Given the description of an element on the screen output the (x, y) to click on. 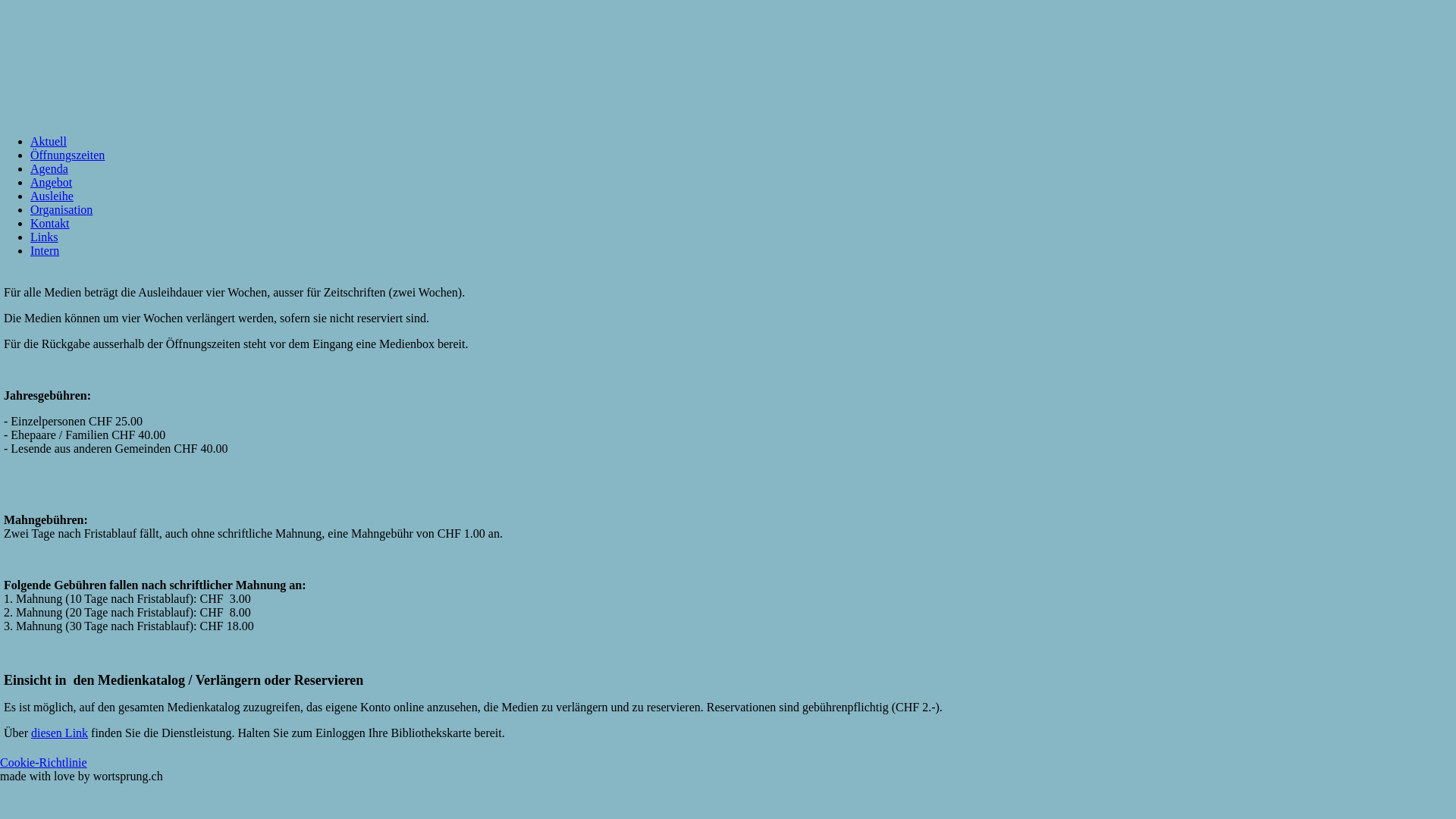
Ausleihe Element type: text (51, 195)
Cookie-Richtlinie Element type: text (43, 762)
diesen Link Element type: text (59, 732)
Intern Element type: text (44, 250)
Kontakt Element type: text (49, 222)
Aktuell Element type: text (48, 140)
Angebot Element type: text (51, 181)
Agenda Element type: text (49, 168)
Links Element type: text (43, 236)
Organisation Element type: text (61, 209)
